Given the description of an element on the screen output the (x, y) to click on. 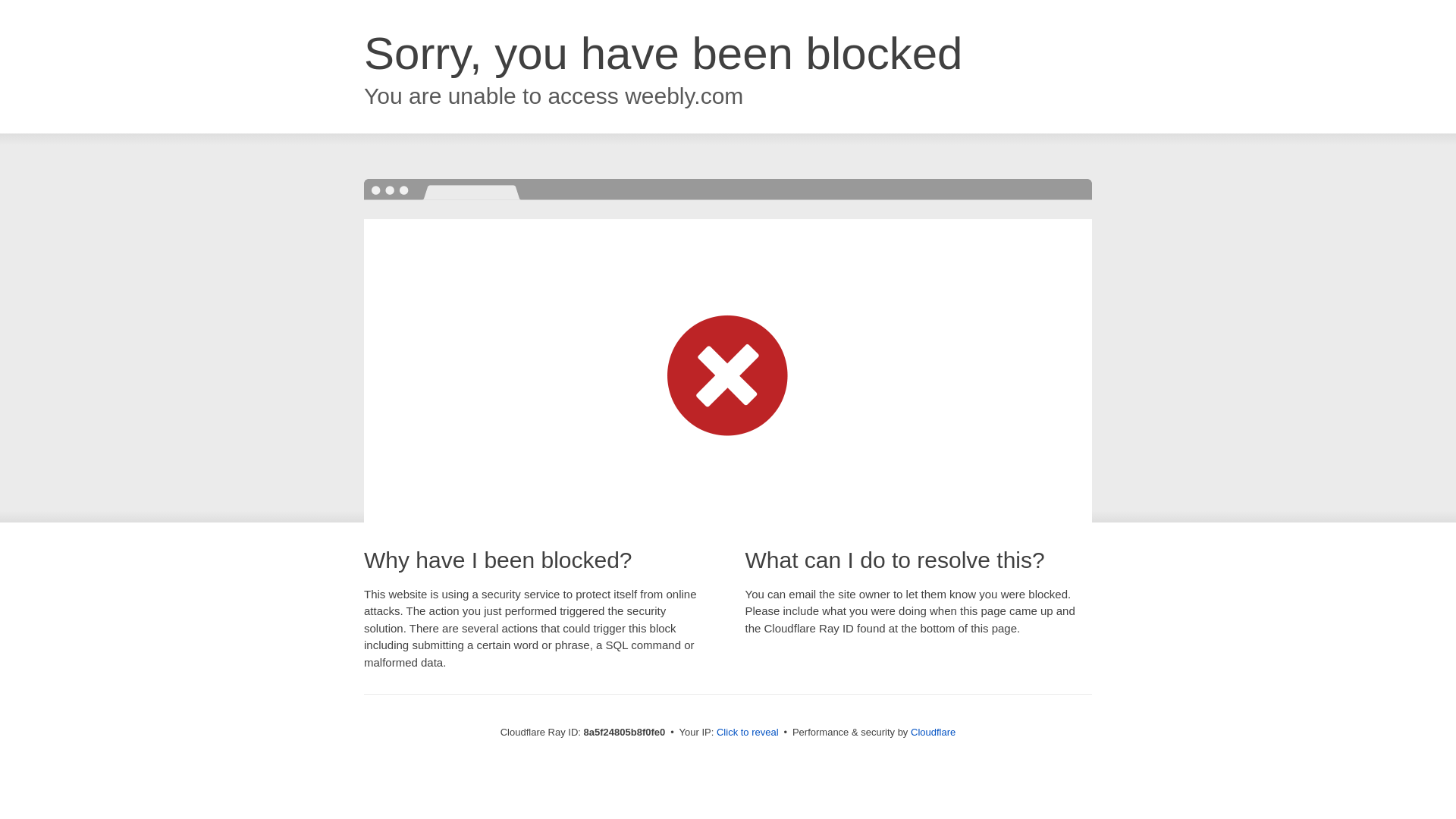
Cloudflare (933, 731)
Click to reveal (747, 732)
